Given the description of an element on the screen output the (x, y) to click on. 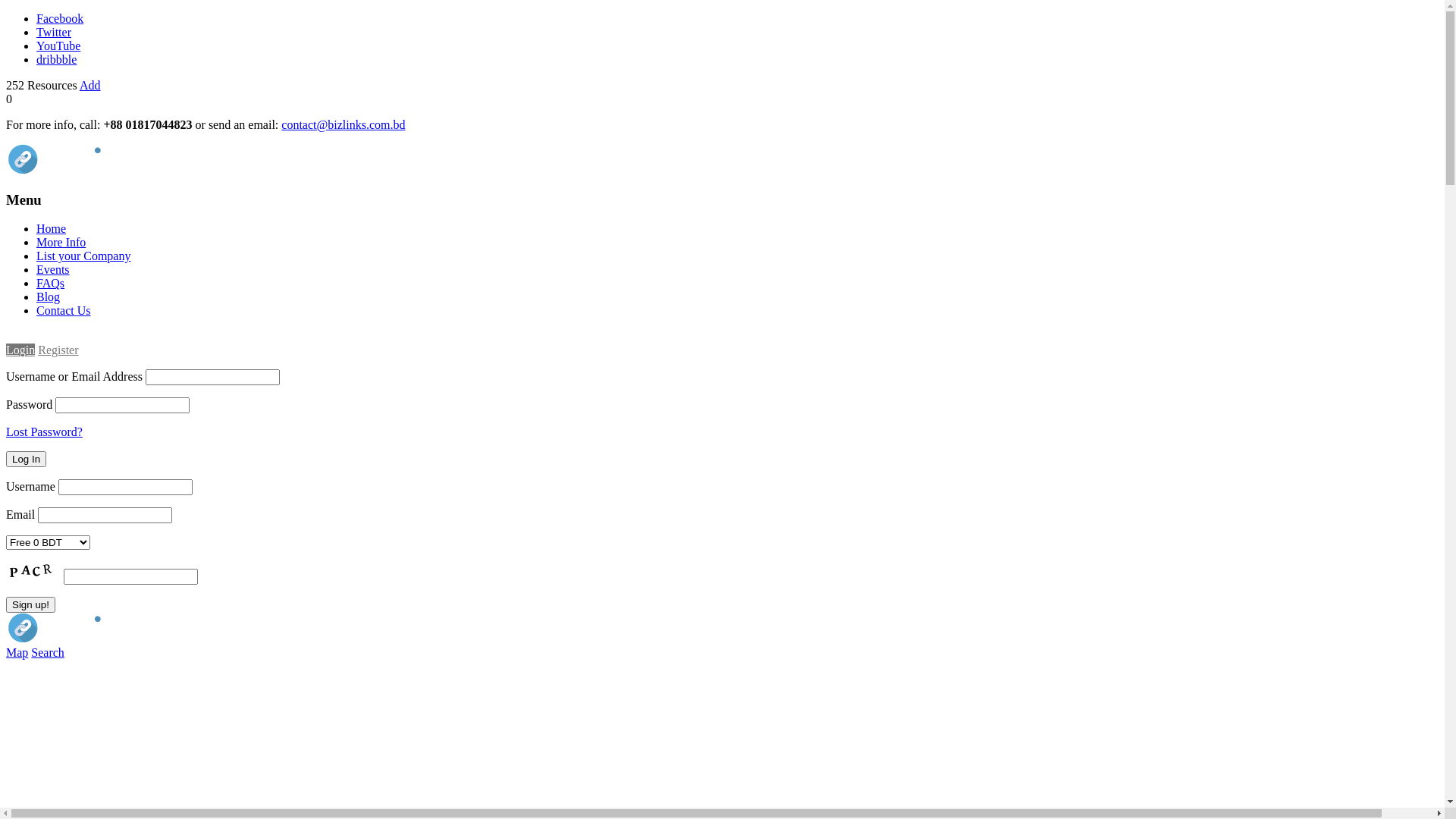
Twitter Element type: text (53, 31)
Sign up! Element type: text (30, 604)
Home Element type: text (50, 228)
Contact Us Element type: text (63, 310)
Log In Element type: text (26, 459)
Blog Element type: text (47, 296)
bizLinks Element type: hover (76, 638)
Lost Password? Element type: text (44, 431)
More Info Element type: text (60, 241)
dribbble Element type: text (56, 59)
contact@bizlinks.com.bd Element type: text (342, 124)
YouTube Element type: text (58, 45)
List your Company Element type: text (83, 255)
Add Element type: text (89, 84)
Search Element type: text (47, 652)
Facebook Element type: text (59, 18)
FAQs Element type: text (50, 282)
Login Element type: text (20, 335)
Map Element type: text (17, 652)
bizLinks Element type: hover (76, 169)
Events Element type: text (52, 269)
Login Element type: text (20, 349)
Register Element type: text (57, 349)
